Given the description of an element on the screen output the (x, y) to click on. 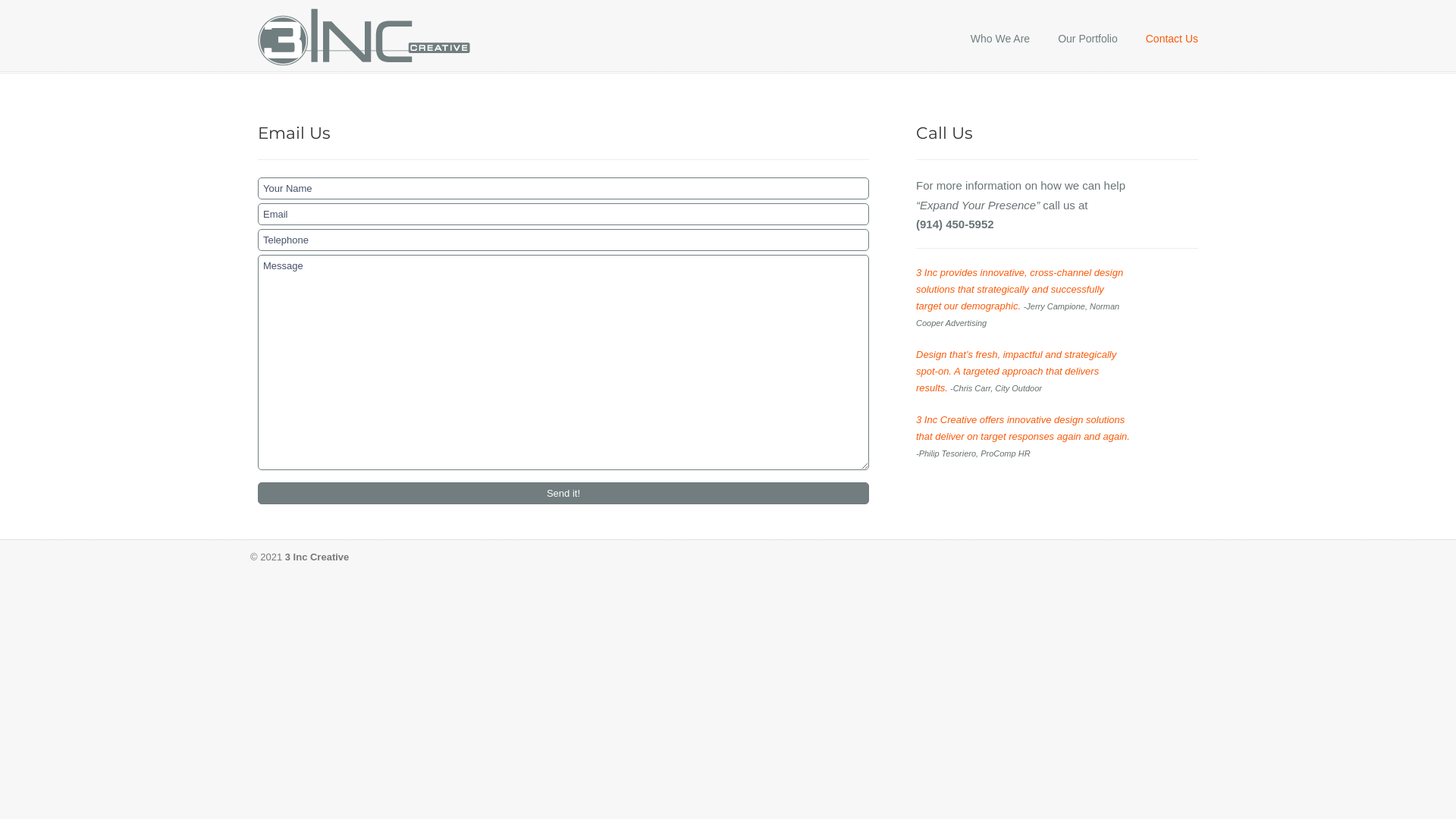
Who We Are Element type: text (999, 38)
Our Portfolio Element type: text (1087, 38)
Contact Us Element type: text (1171, 38)
3 Inc Creative Element type: text (364, 36)
Send it! Element type: text (563, 493)
